Given the description of an element on the screen output the (x, y) to click on. 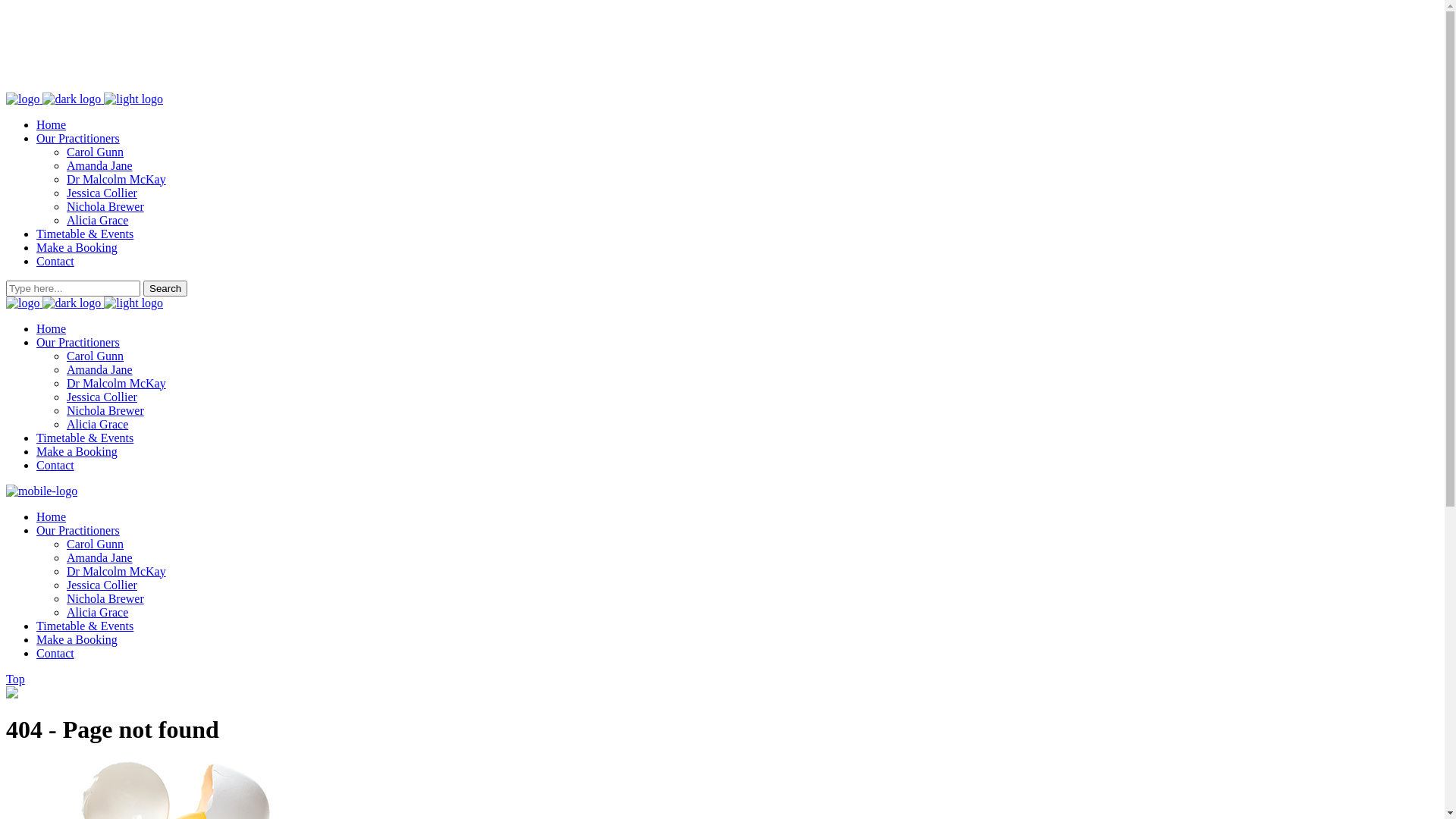
Our Practitioners Element type: text (77, 530)
Our Practitioners Element type: text (77, 341)
Jessica Collier Element type: text (101, 192)
Top Element type: text (15, 678)
Health Hub Tweed Coast Element type: text (67, 765)
Jessica Collier Element type: text (101, 584)
87 Tweed Coast Road, Hastings Point 2489 NSW Element type: text (118, 70)
Alicia Grace Element type: text (97, 611)
Make a Booking Element type: text (76, 451)
Make a Booking Element type: text (76, 247)
Dr Malcolm McKay Element type: text (116, 570)
Contact Element type: text (55, 260)
Make a Booking Element type: text (76, 639)
Contact Element type: text (55, 464)
Jessica Collier Element type: text (101, 396)
Nichola Brewer Element type: text (105, 598)
Alicia Grace Element type: text (97, 423)
Home Element type: text (50, 516)
Amanda Jane Element type: text (99, 369)
Carol Gunn Element type: text (94, 355)
Our Practitioners Element type: text (77, 137)
Amanda Jane Element type: text (99, 165)
Timetable & Events Element type: text (84, 437)
Nichola Brewer Element type: text (105, 410)
Home Element type: text (50, 328)
Amanda Jane Element type: text (99, 557)
Timetable & Events Element type: text (84, 625)
Alicia Grace Element type: text (97, 219)
Contact Element type: text (55, 652)
Nichola Brewer Element type: text (105, 206)
Search Element type: text (165, 288)
Carol Gunn Element type: text (94, 151)
Dr Malcolm McKay Element type: text (116, 382)
Timetable & Events Element type: text (84, 233)
0415 919 521 Element type: text (53, 40)
Home Element type: text (50, 124)
Carol Gunn Element type: text (94, 543)
Dr Malcolm McKay Element type: text (116, 178)
